Given the description of an element on the screen output the (x, y) to click on. 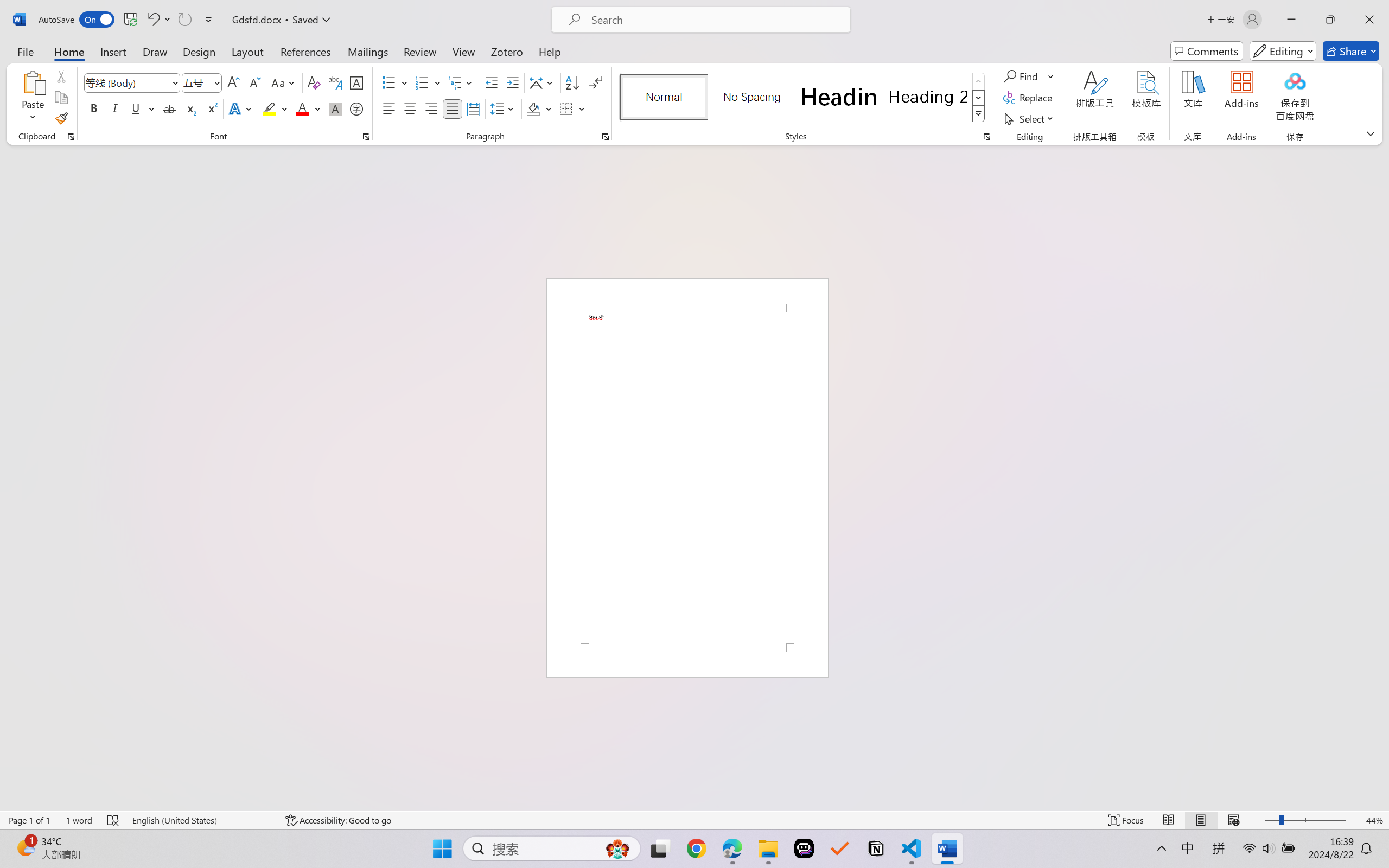
Undo Apply Quick Style (158, 19)
